Given the description of an element on the screen output the (x, y) to click on. 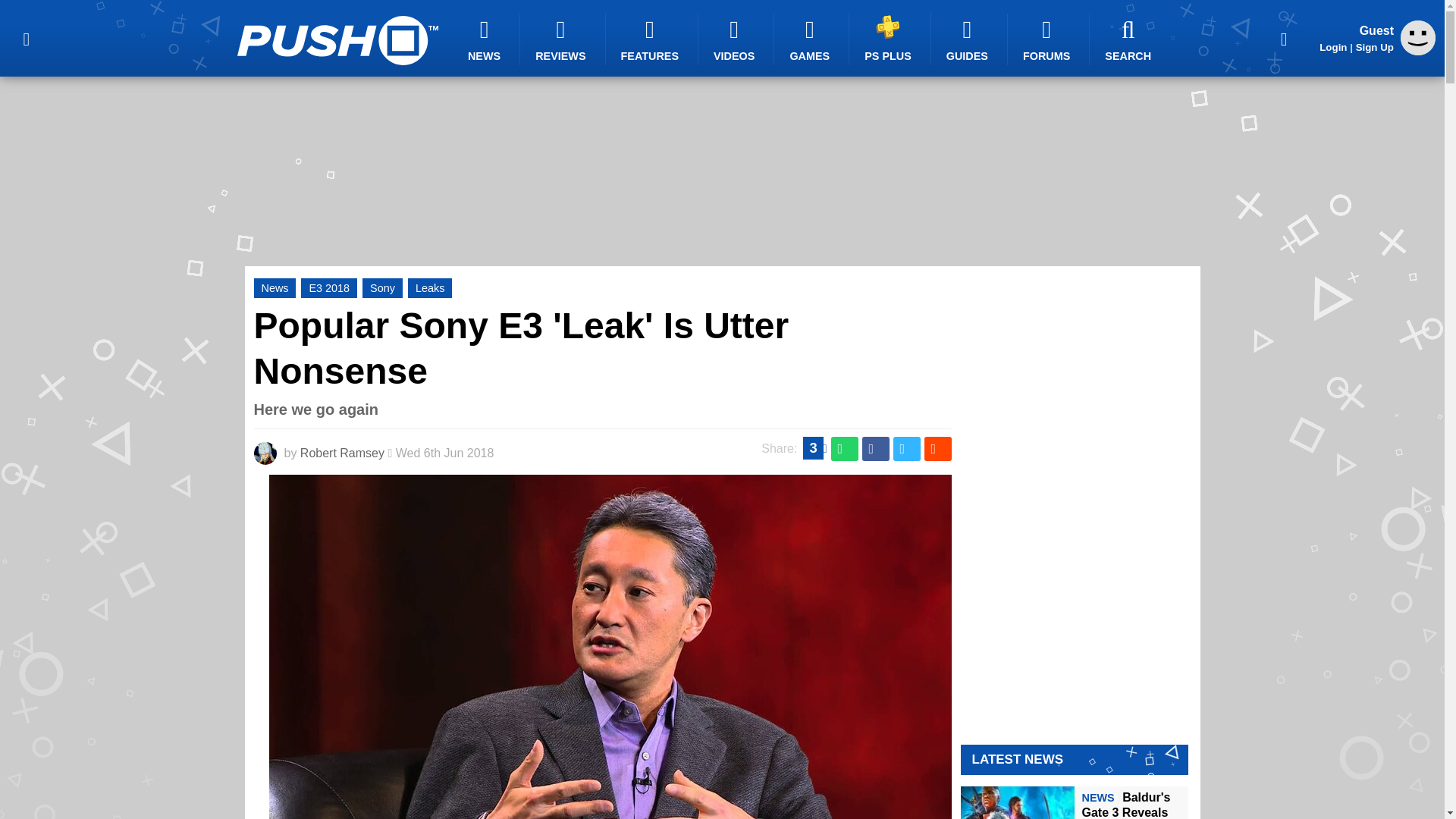
Share This Page (1283, 37)
SEARCH (1129, 39)
Menu (26, 37)
Guest (1417, 37)
Guest (1417, 51)
VIDEOS (736, 39)
Login (1332, 47)
REVIEWS (562, 39)
Push Square (336, 40)
Sign Up (1374, 47)
GUIDES (969, 39)
GAMES (811, 39)
NEWS (485, 39)
FEATURES (651, 39)
Push Square (336, 40)
